Given the description of an element on the screen output the (x, y) to click on. 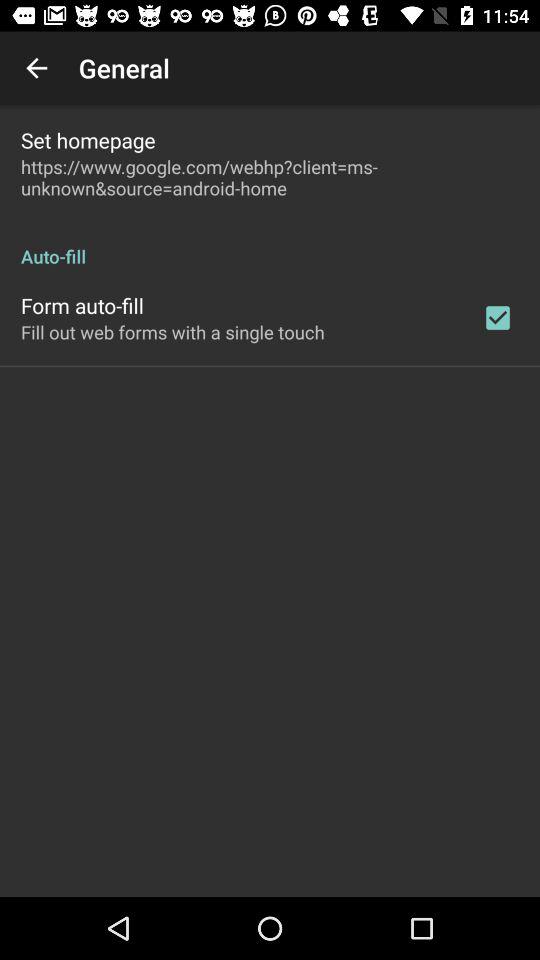
turn off the icon above the auto-fill icon (270, 177)
